Given the description of an element on the screen output the (x, y) to click on. 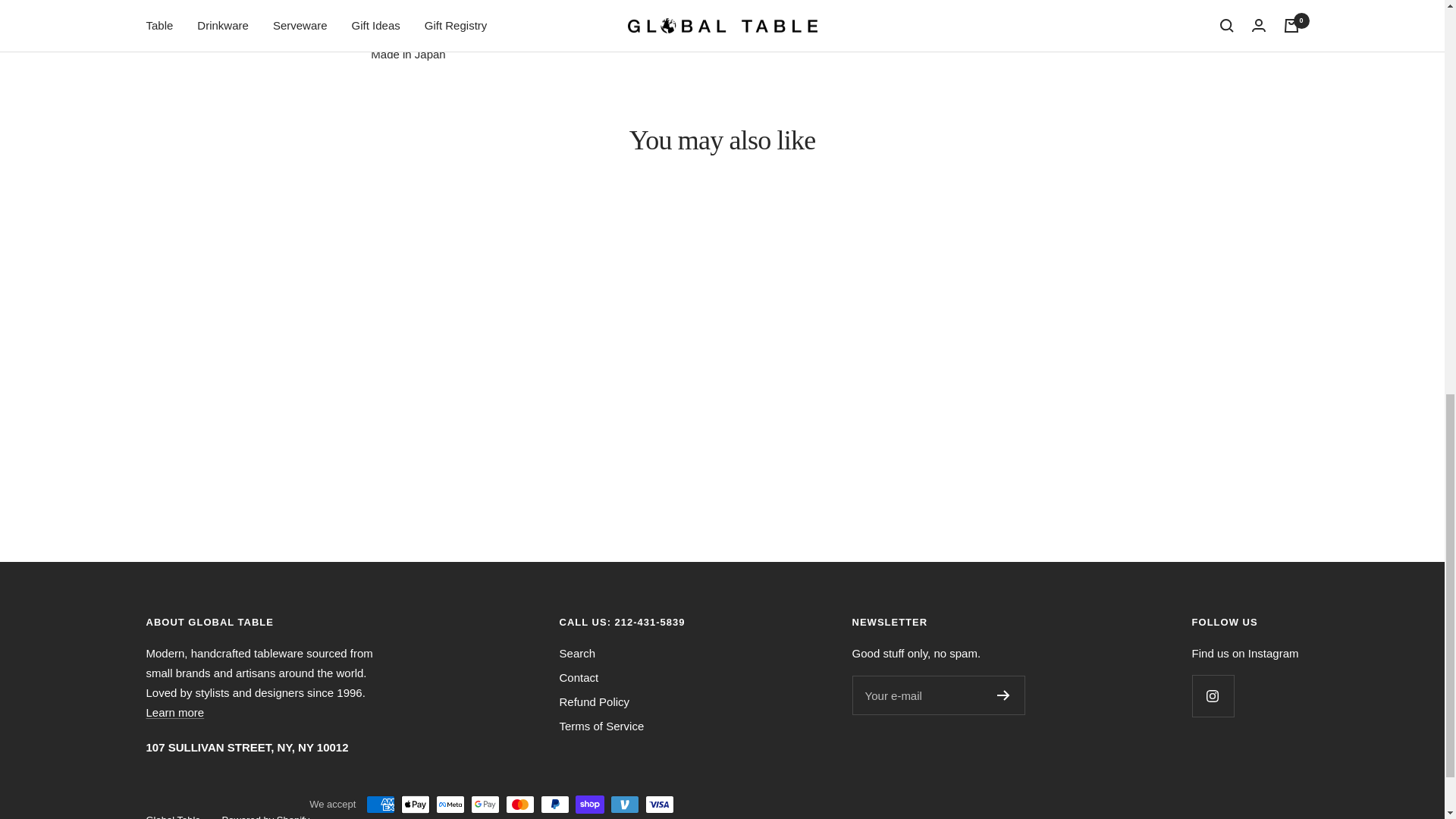
107 SULLIVAN STREET, NEW YORK, NY 10012 (246, 747)
Register (1003, 695)
About Global Table (174, 712)
